Given the description of an element on the screen output the (x, y) to click on. 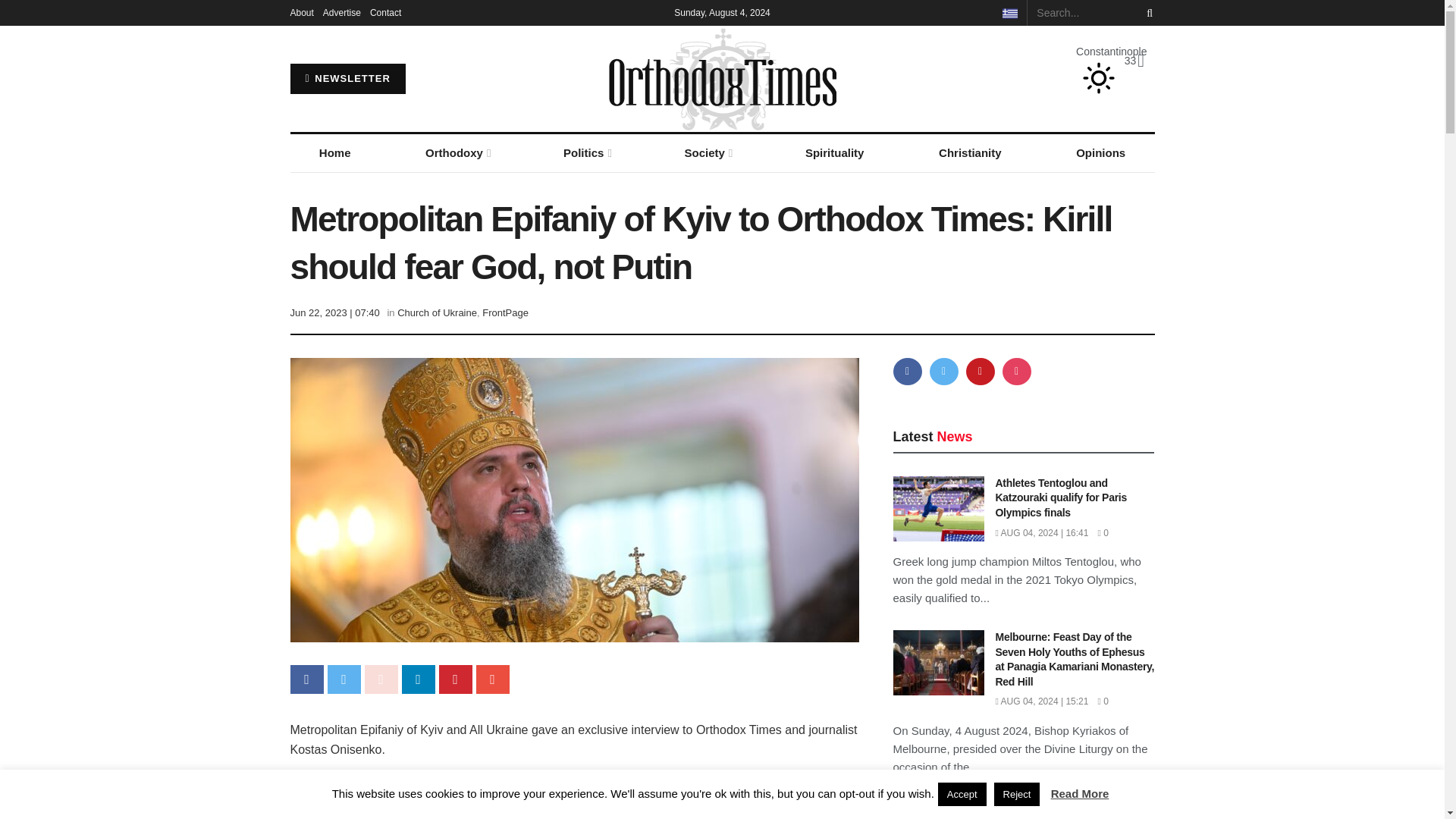
Spirituality (834, 152)
Home (333, 152)
Society (706, 152)
About (301, 12)
Advertise (342, 12)
NEWSLETTER (346, 78)
Contact (385, 12)
Orthodoxy (457, 152)
Politics (586, 152)
